Given the description of an element on the screen output the (x, y) to click on. 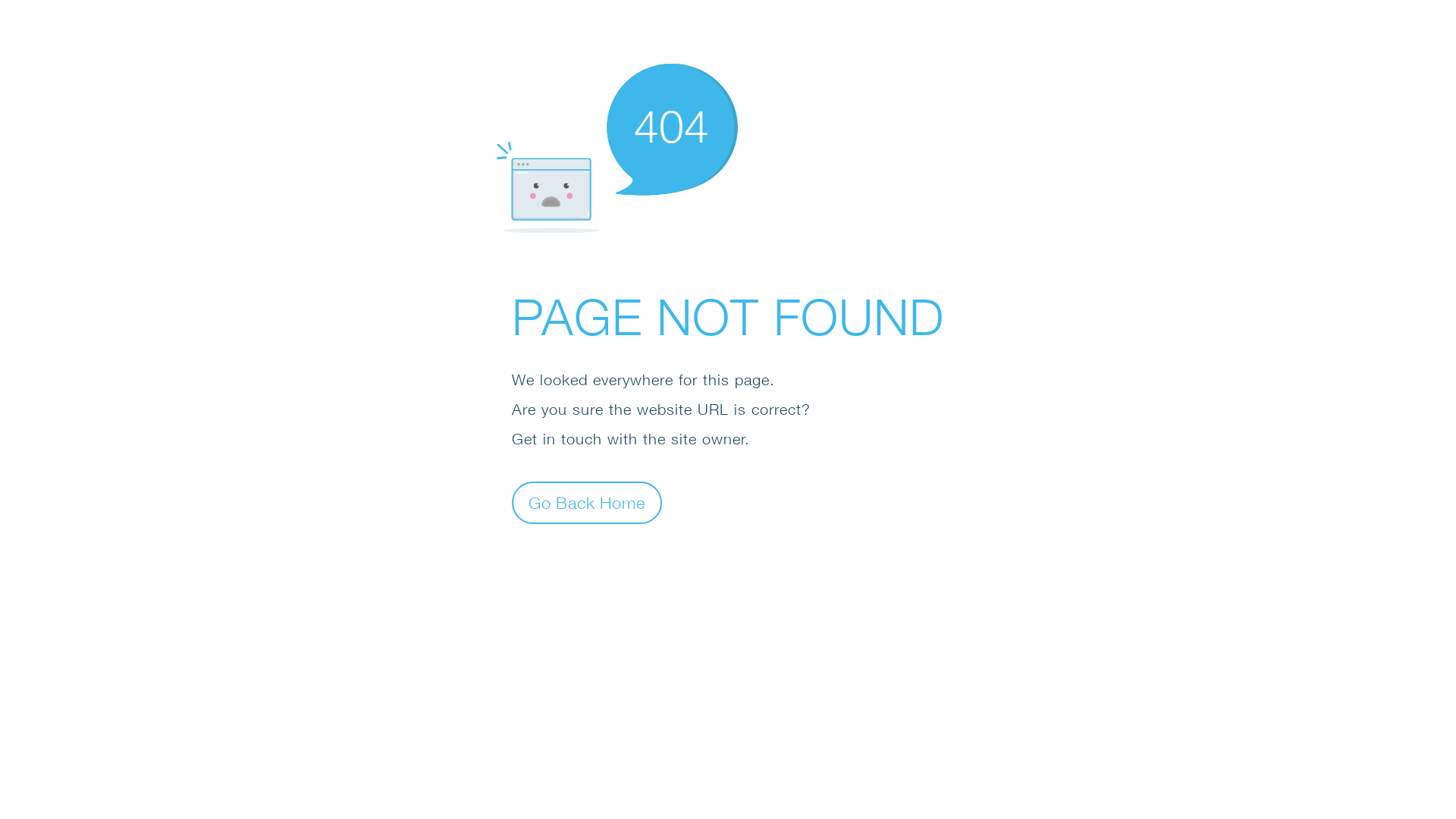
Go Back Home Element type: text (586, 502)
